Given the description of an element on the screen output the (x, y) to click on. 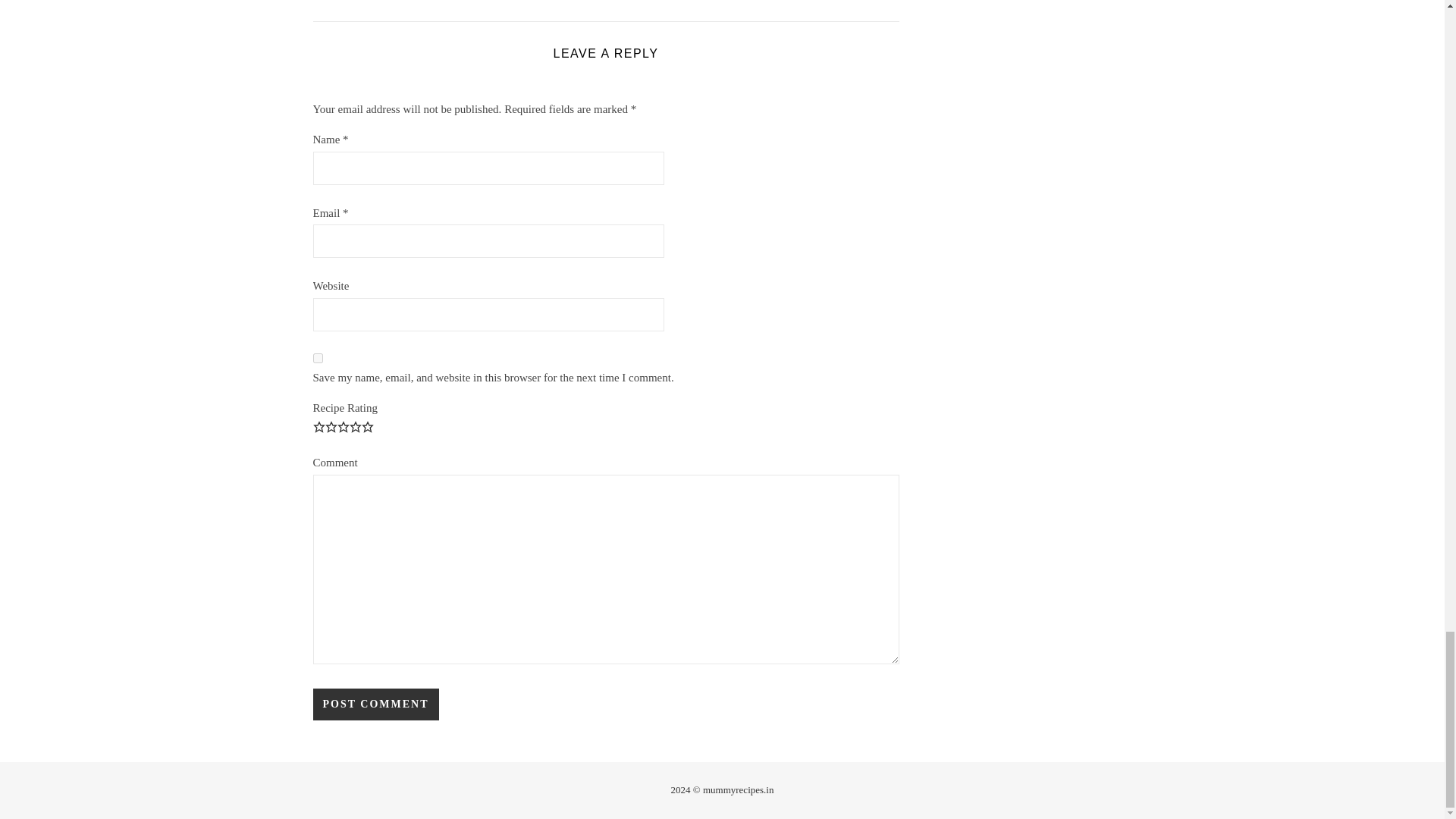
Post Comment (375, 704)
Post Comment (375, 704)
yes (317, 357)
